Given the description of an element on the screen output the (x, y) to click on. 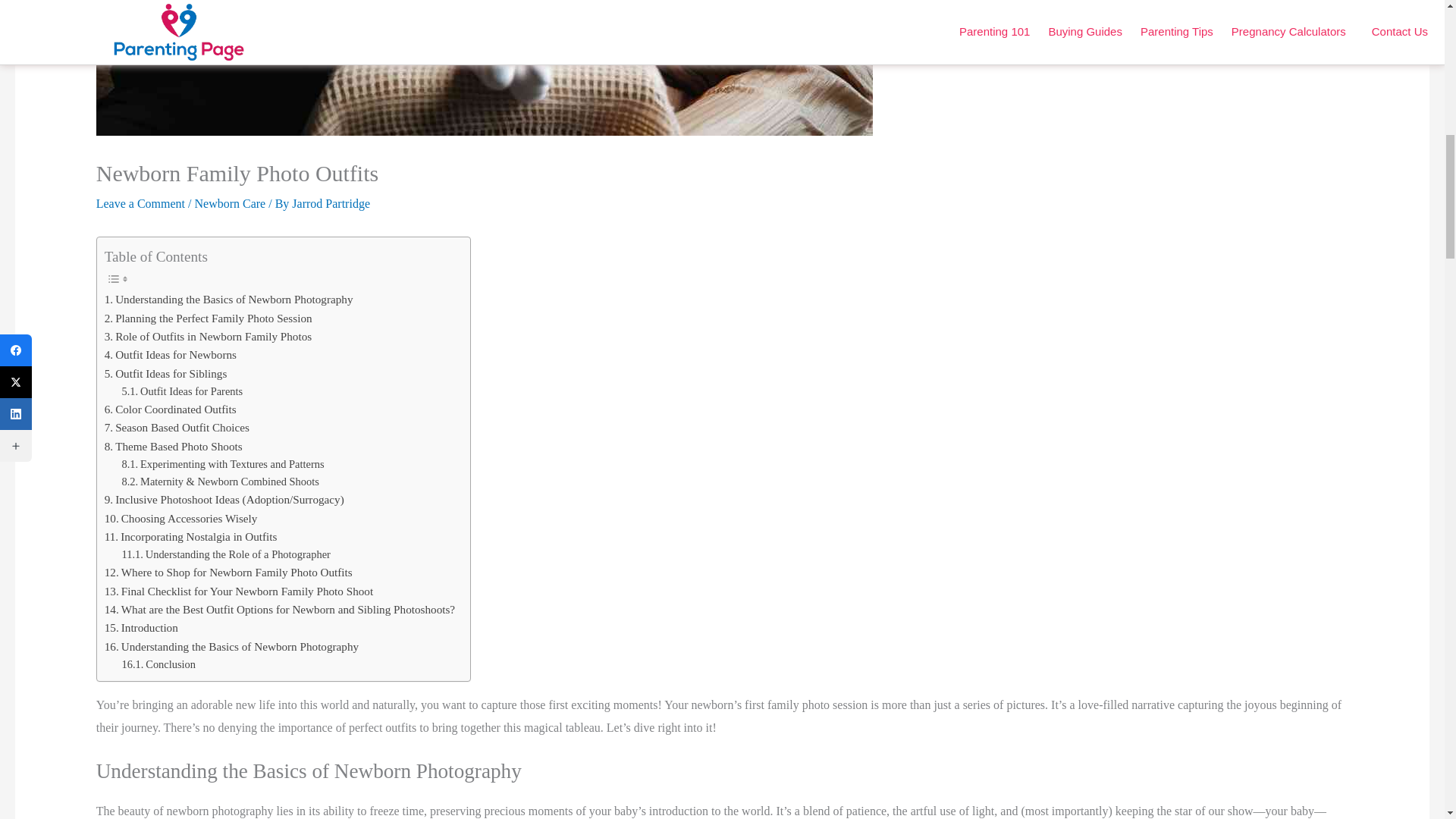
Choosing Accessories Wisely (180, 518)
Incorporating Nostalgia in Outfits (191, 536)
Outfit Ideas for Siblings (165, 373)
Color Coordinated Outfits (169, 409)
Understanding the Basics of Newborn Photography (228, 299)
Role of Outfits in Newborn Family Photos (207, 336)
View all posts by Jarrod Partridge (330, 203)
Planning the Perfect Family Photo Session (208, 318)
Season Based Outfit Choices (176, 427)
Theme Based Photo Shoots (173, 446)
